Given the description of an element on the screen output the (x, y) to click on. 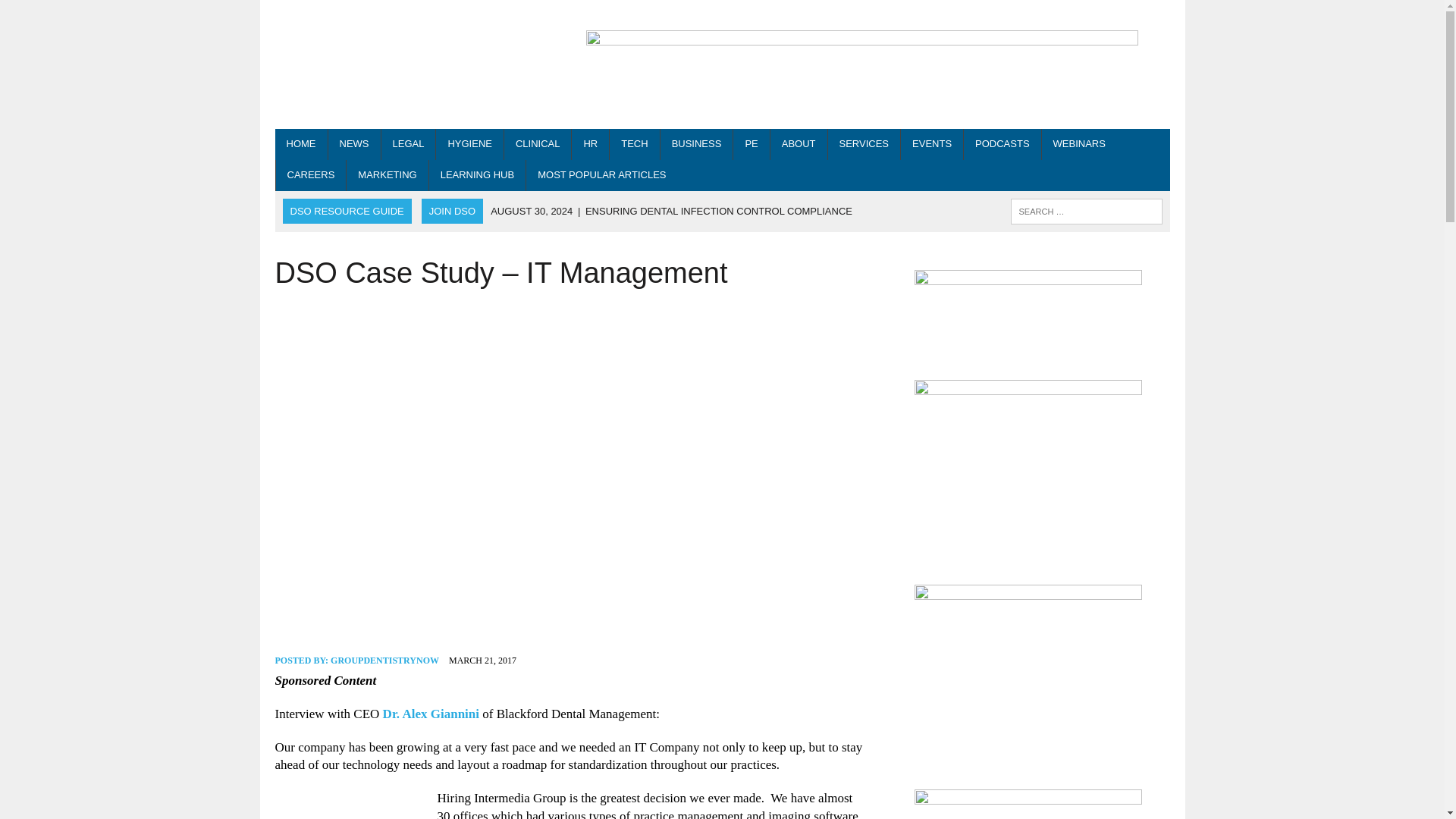
HYGIENE (469, 143)
TECH (634, 143)
PE (750, 143)
HR (590, 143)
HOME (300, 143)
LEGAL (407, 143)
CLINICAL (537, 143)
SERVICES (864, 143)
ABOUT (798, 143)
WEBINARS (1079, 143)
